Given the description of an element on the screen output the (x, y) to click on. 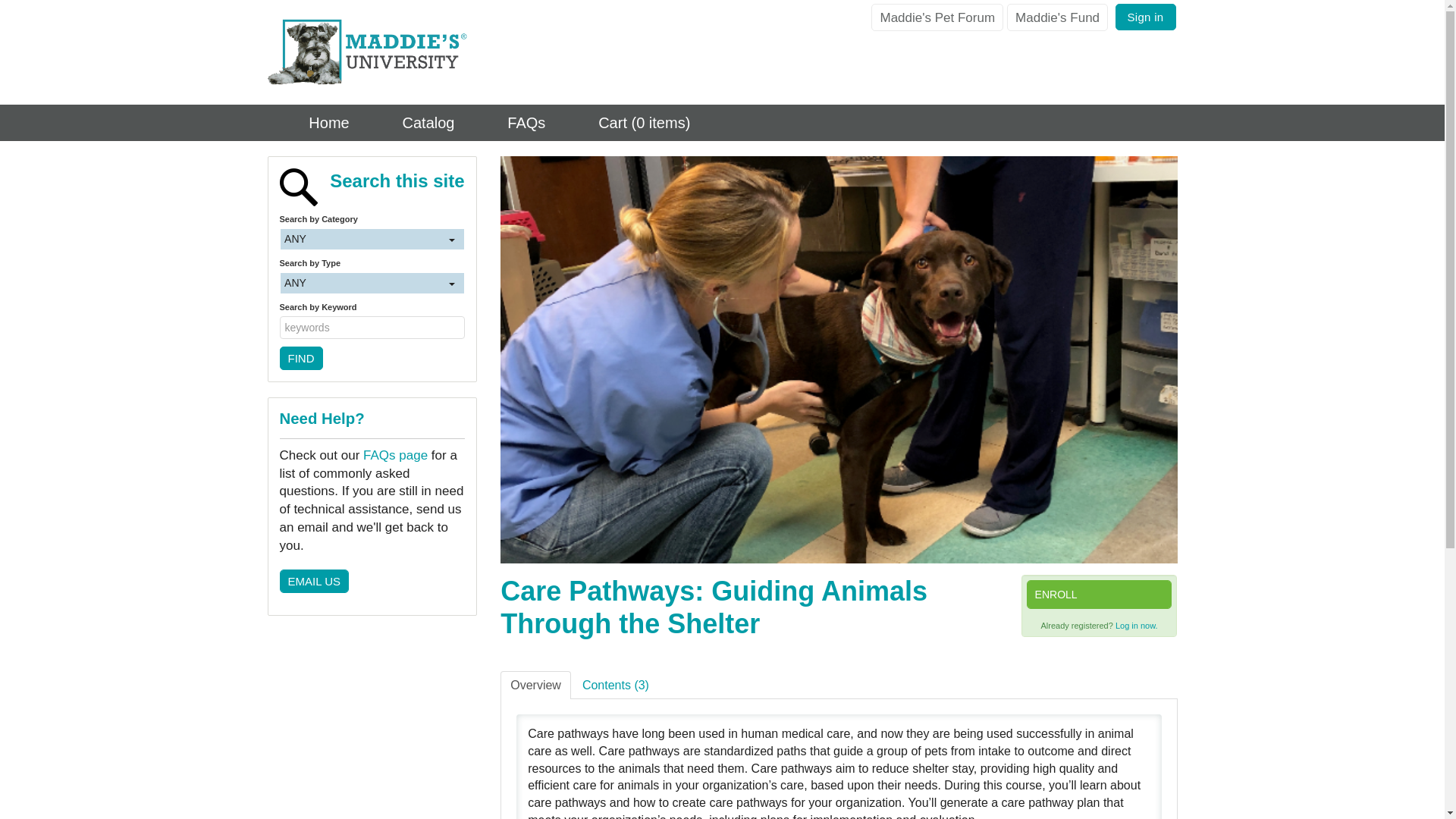
Maddie's Pet Forum (936, 17)
Catalog (413, 122)
Home (312, 122)
Log in now. (1136, 624)
Find (300, 436)
Maddie's Fund (1057, 17)
-- (362, 258)
ENROLL (1099, 594)
Overview (535, 685)
FAQs (510, 122)
Find (300, 436)
EMAIL US (313, 659)
FAQs page (395, 534)
-- (362, 342)
Sign in (1144, 17)
